Given the description of an element on the screen output the (x, y) to click on. 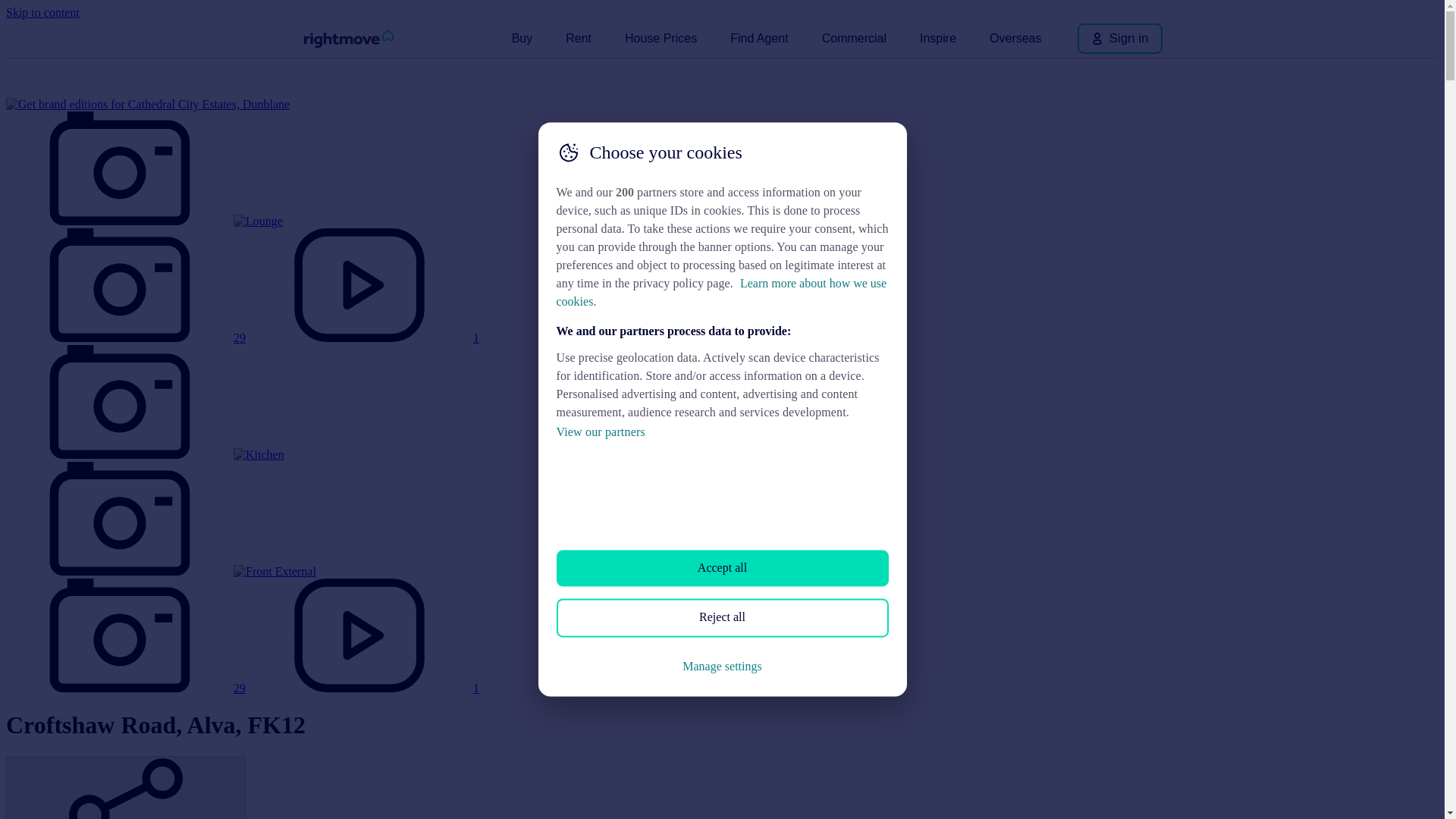
Commercial (853, 38)
House Prices (660, 38)
Buy (521, 38)
Overseas (1014, 38)
Share this property (125, 787)
Find Agent (758, 38)
Inspire (938, 38)
Skip to content (42, 11)
Rent (577, 38)
